Given the description of an element on the screen output the (x, y) to click on. 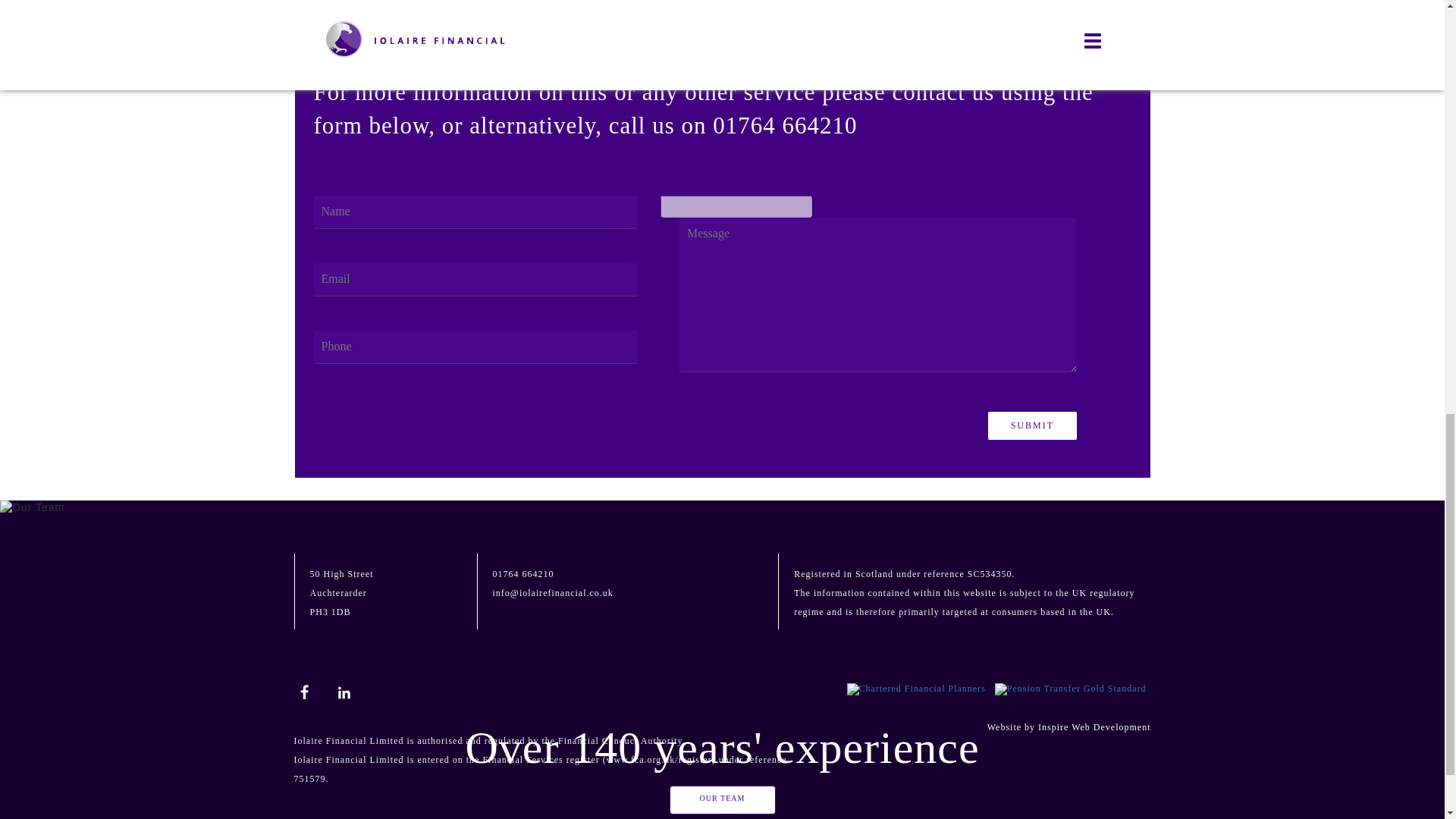
Website by Inspire Web Development (1069, 726)
Pension Transfer Gold Standard (1070, 689)
OUR TEAM (721, 798)
SUBMIT (1032, 425)
SUBMIT (1032, 425)
Linkedin (344, 690)
Facebook (302, 690)
Chartered Financial Planners  (916, 689)
